Given the description of an element on the screen output the (x, y) to click on. 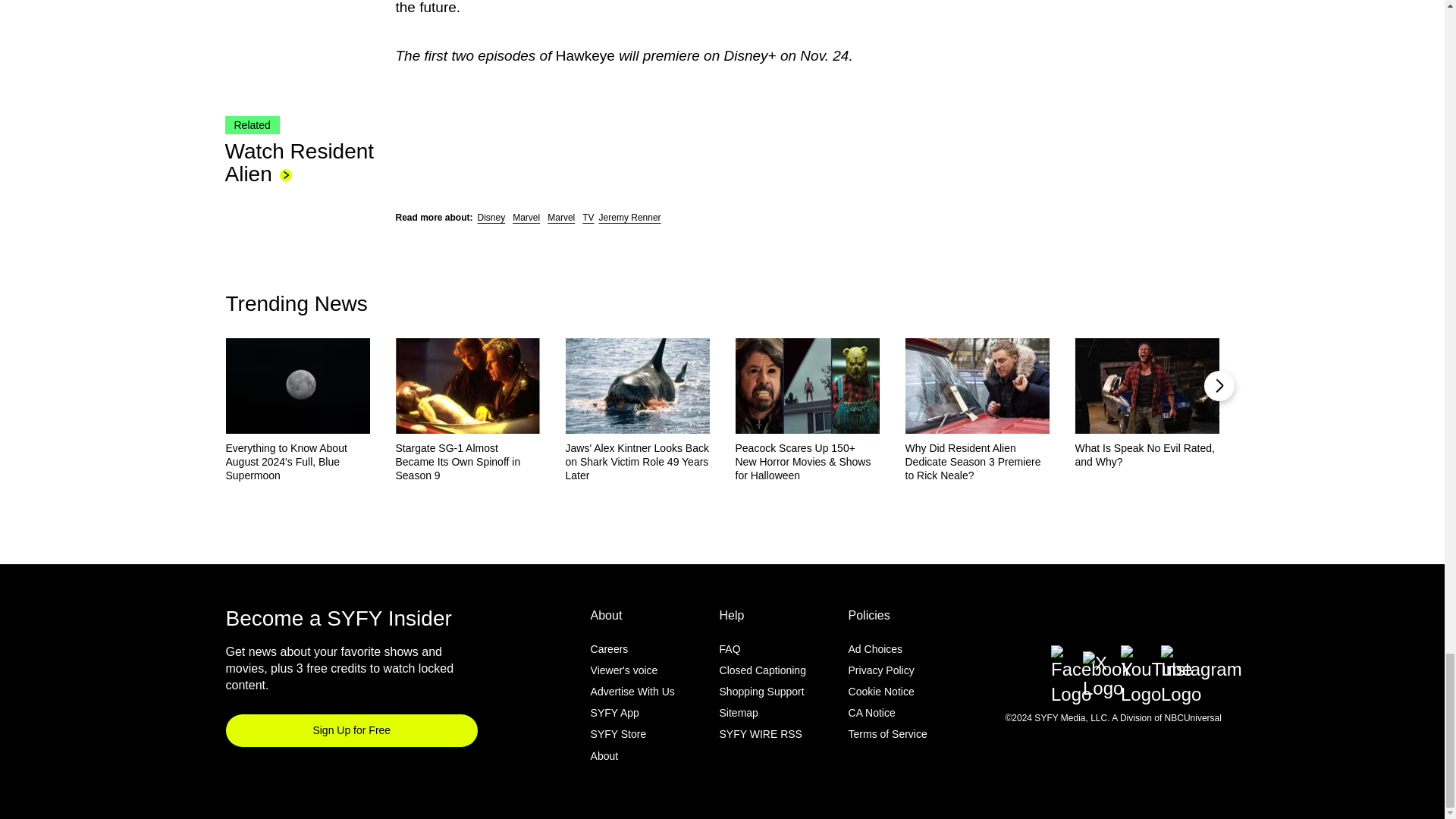
Marvel (526, 216)
Jeremy Renner (629, 216)
TV (588, 216)
Everything to Know About August 2024's Full, Blue Supermoon (297, 461)
Advertise With Us (633, 691)
Disney (491, 216)
Marvel (561, 216)
